Given the description of an element on the screen output the (x, y) to click on. 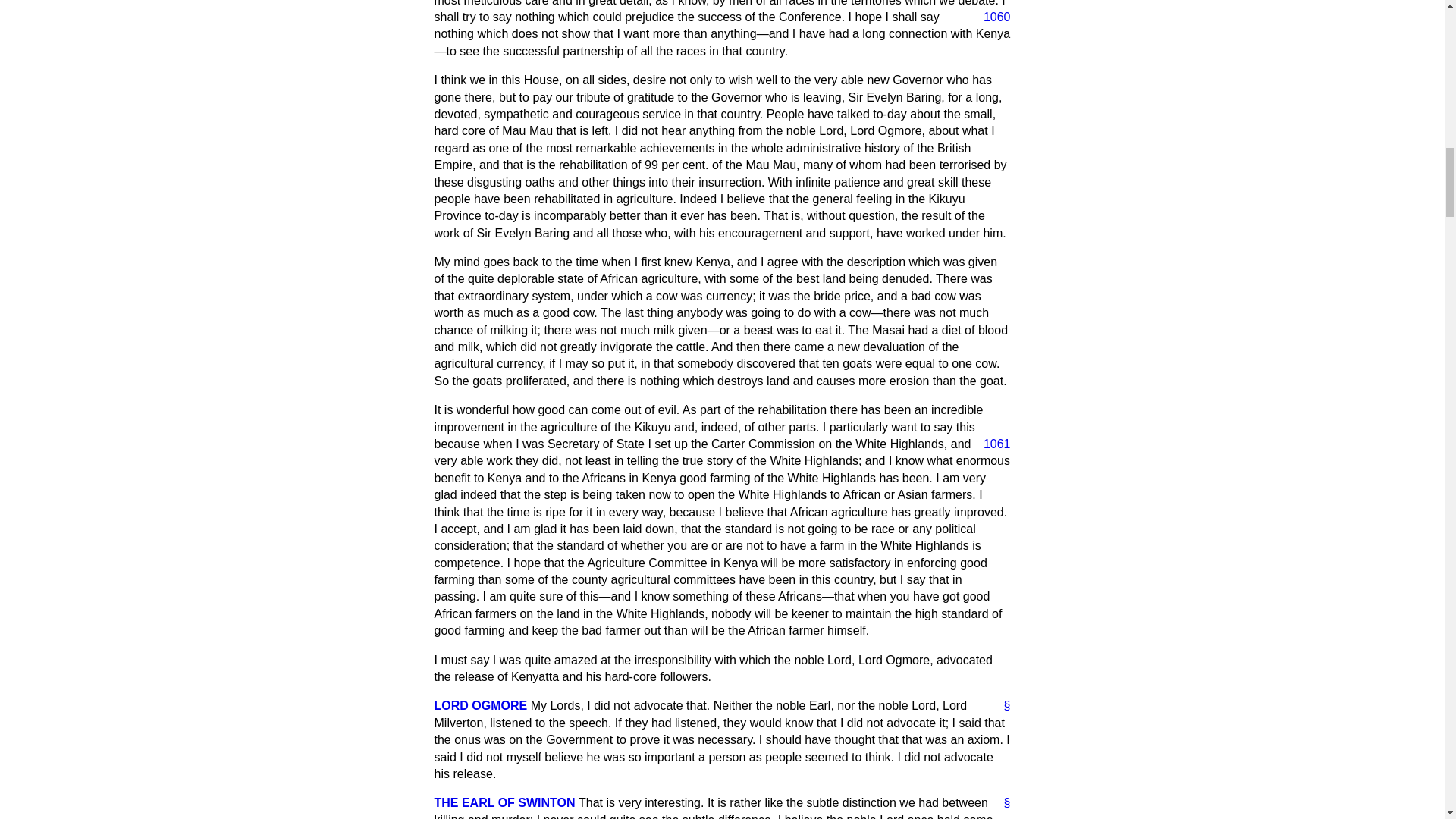
LORD OGMORE (480, 705)
Link to this speech by Lieut-Colonel David Rees-Williams (1000, 705)
THE EARL OF SWINTON (504, 802)
1060 (990, 17)
1061 (990, 443)
